Given the description of an element on the screen output the (x, y) to click on. 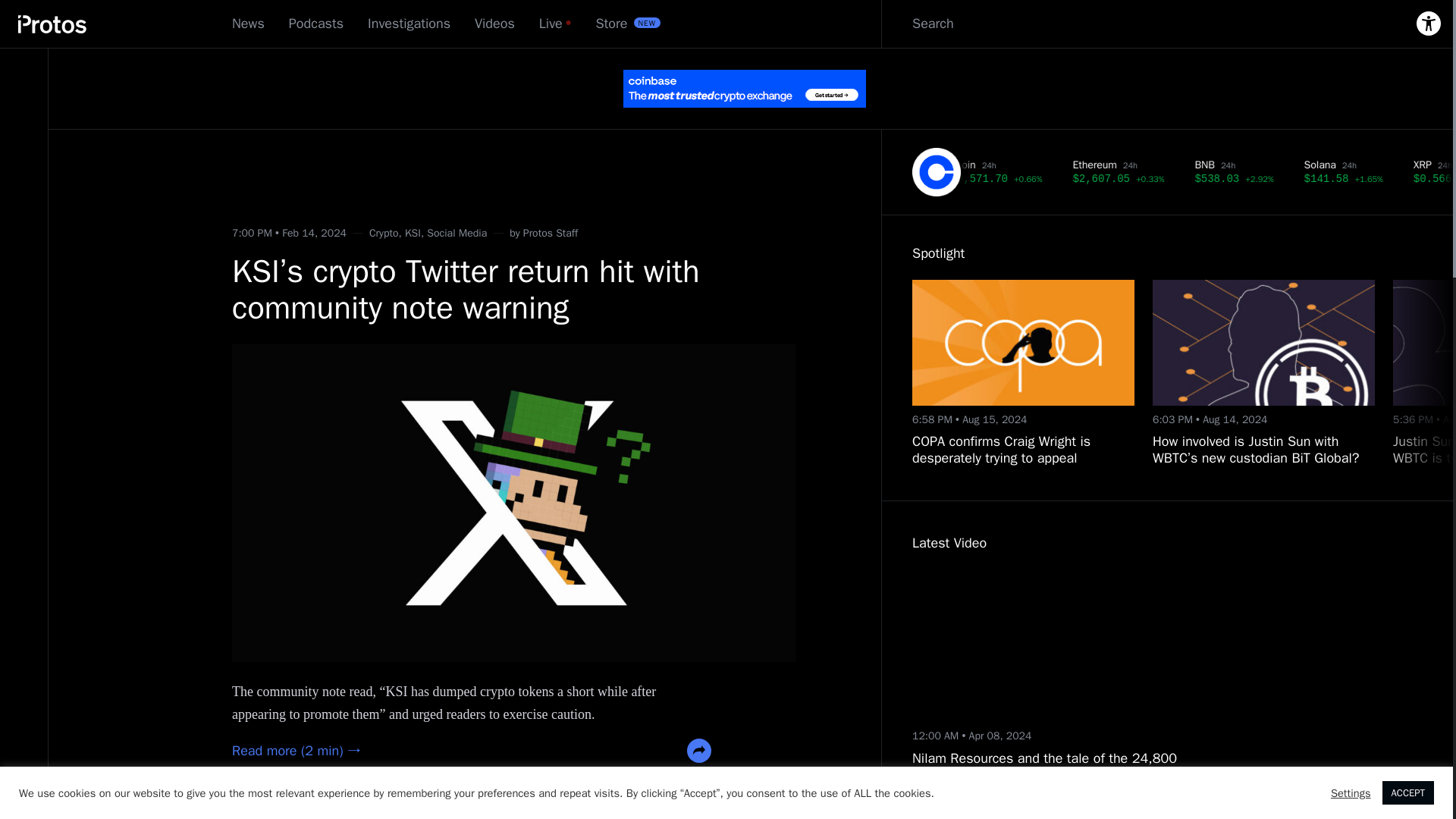
Social Media (456, 233)
Podcasts (315, 23)
Protos Staff (550, 233)
Investigations (408, 23)
Crypto (383, 233)
